Given the description of an element on the screen output the (x, y) to click on. 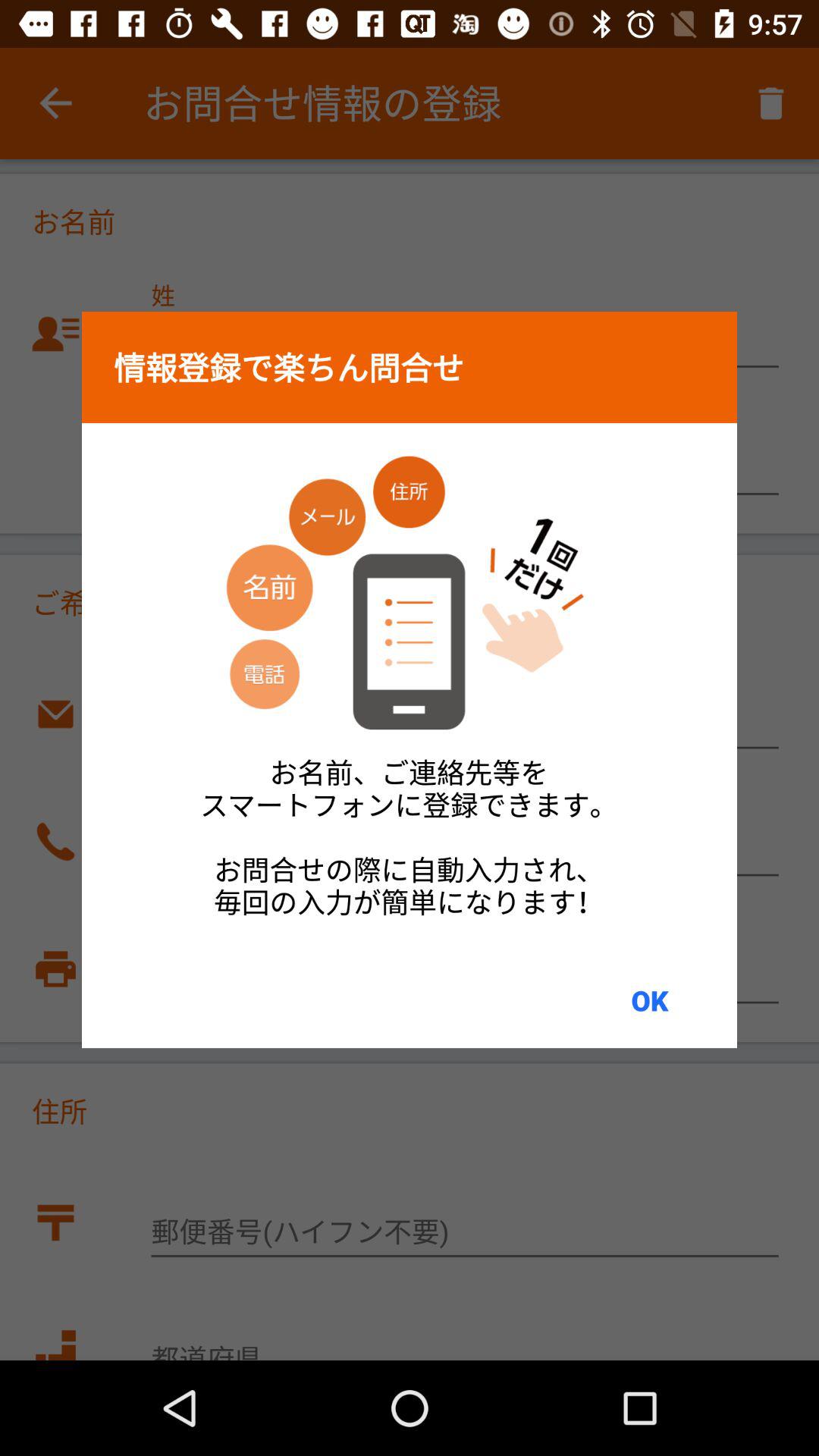
swipe to the ok item (649, 1000)
